Given the description of an element on the screen output the (x, y) to click on. 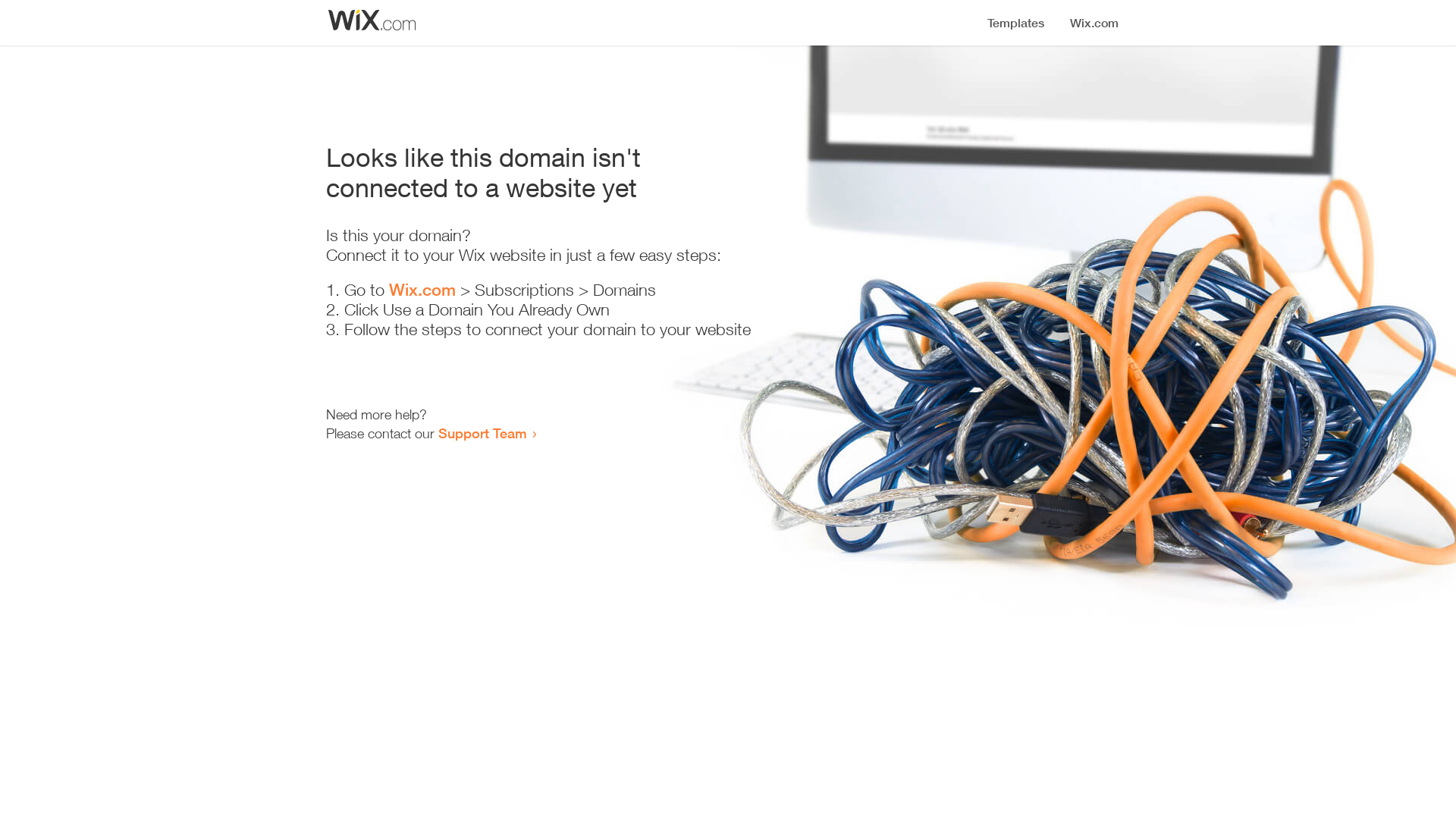
Support Team Element type: text (482, 432)
Wix.com Element type: text (422, 289)
